Given the description of an element on the screen output the (x, y) to click on. 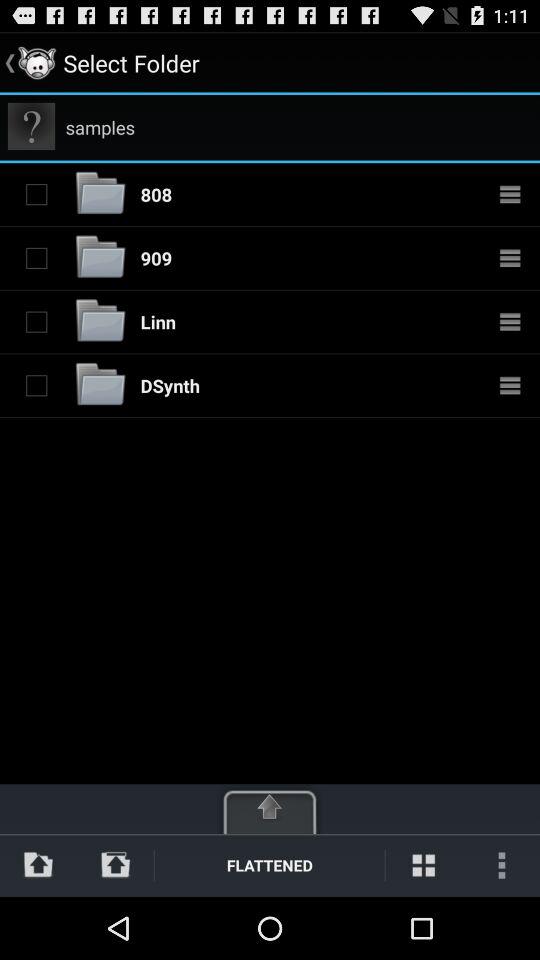
file to select (36, 258)
